Given the description of an element on the screen output the (x, y) to click on. 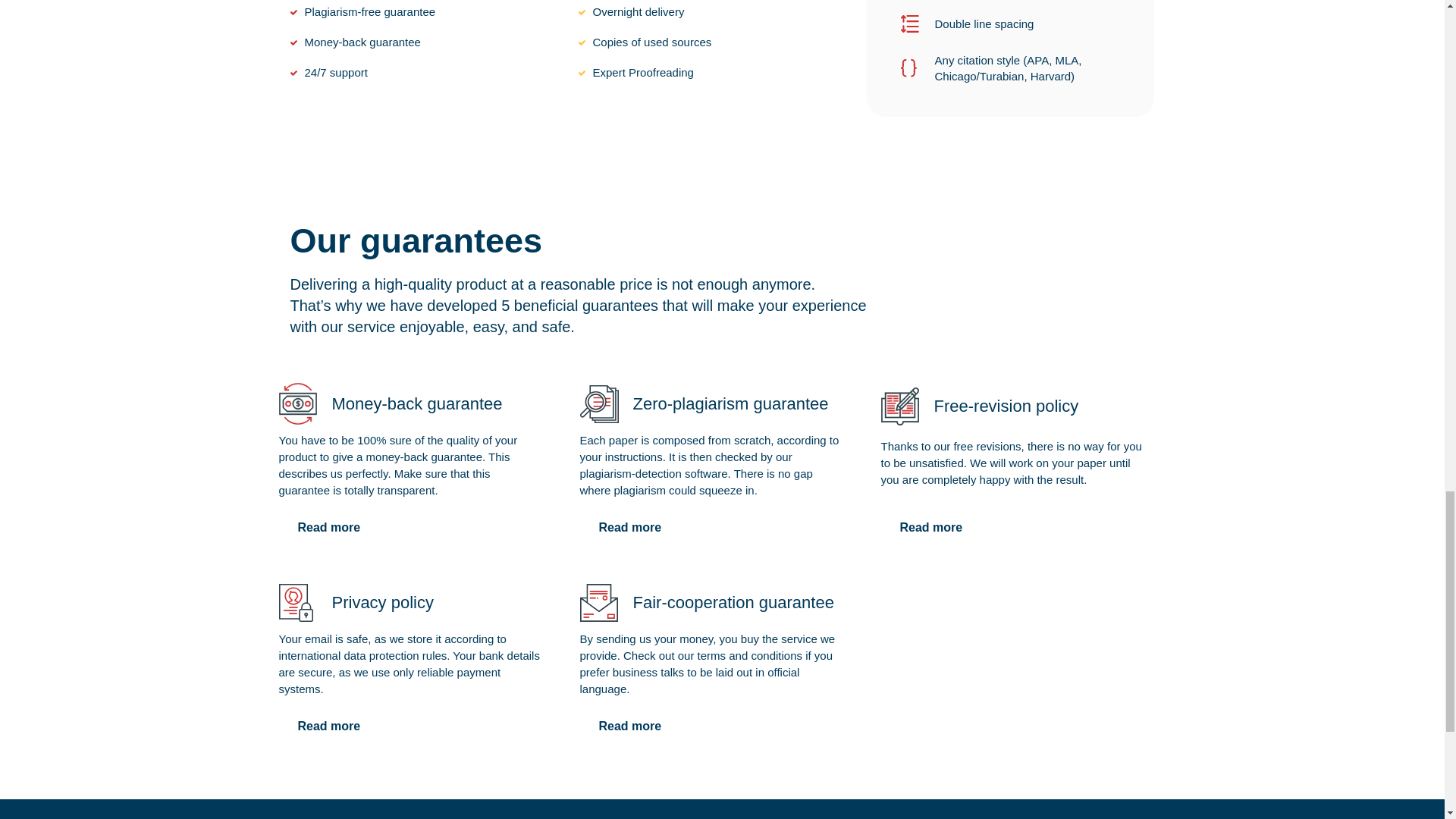
Read more (329, 527)
Read more (629, 527)
Read more (930, 527)
Read more (329, 726)
Read more (629, 726)
